Given the description of an element on the screen output the (x, y) to click on. 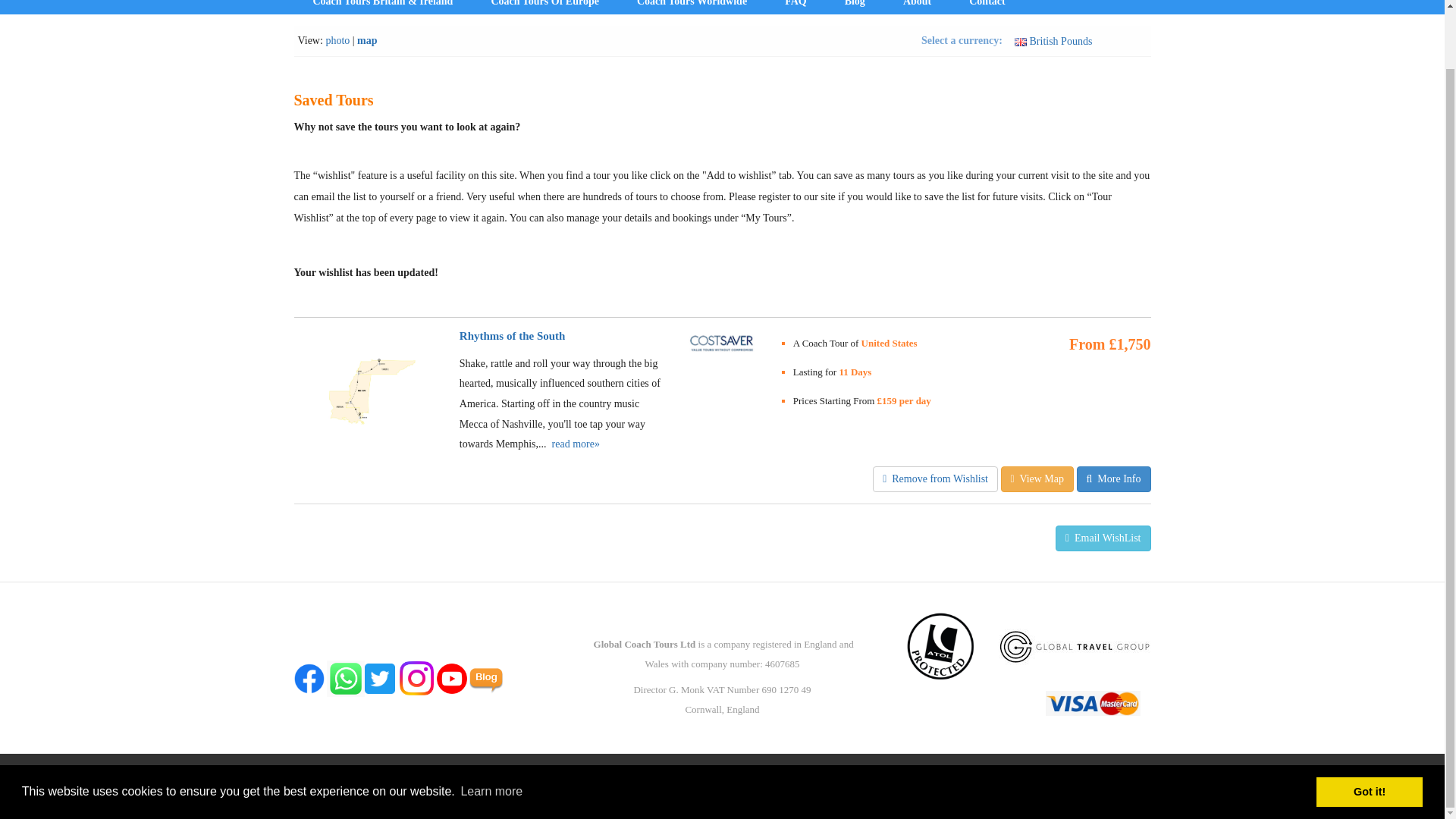
Learn more (491, 727)
Coach Tours Of Europe (544, 7)
Coach Tours of Europe (544, 7)
Got it! (1369, 727)
